Given the description of an element on the screen output the (x, y) to click on. 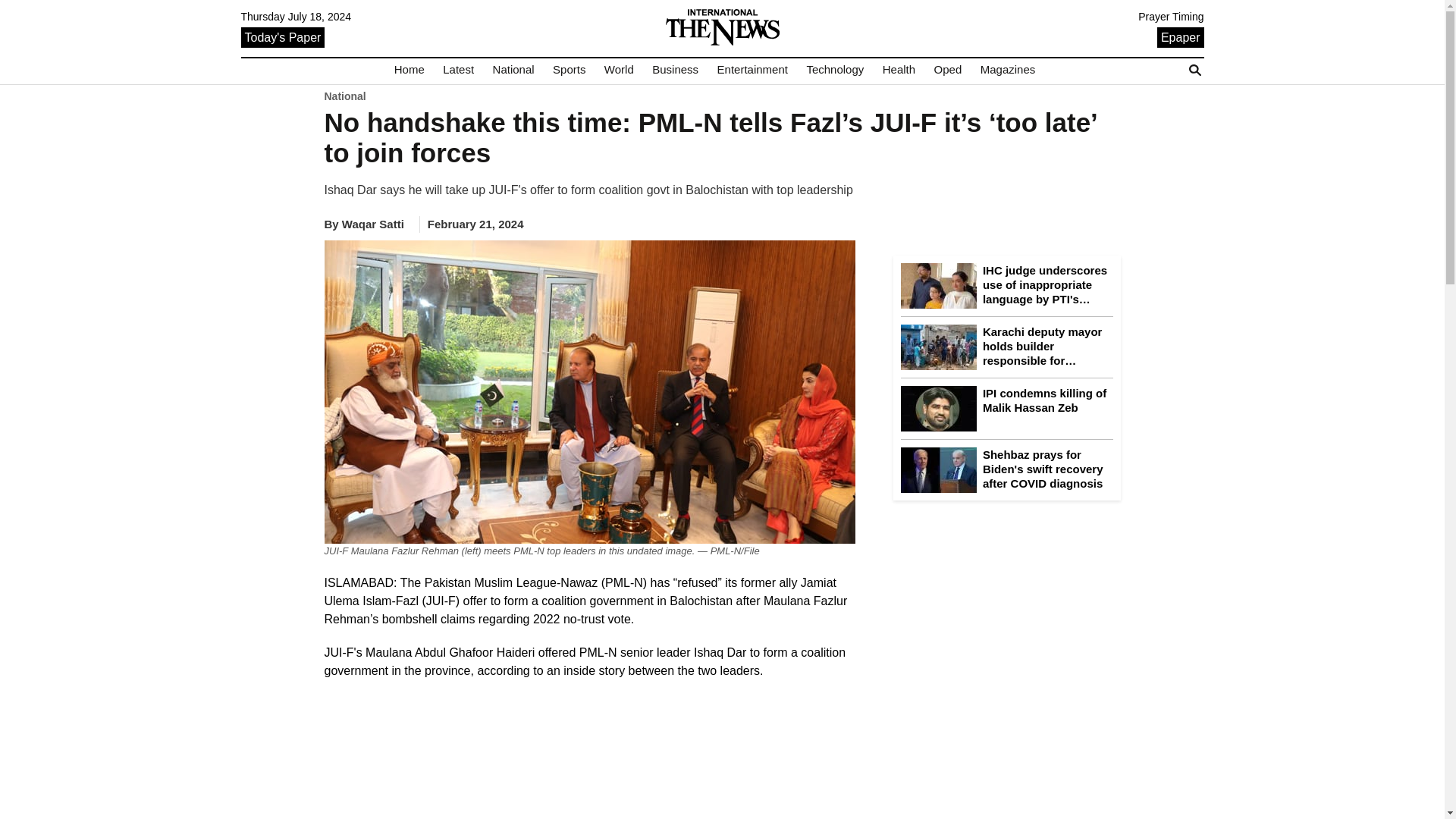
Business (675, 69)
Latest (458, 69)
World (619, 69)
Home (409, 69)
Entertainment (752, 69)
Sports (568, 69)
Today's Paper (282, 37)
National (512, 69)
Epaper (1180, 37)
Technology (833, 69)
Health (899, 69)
Prayer Timing (1171, 16)
